Given the description of an element on the screen output the (x, y) to click on. 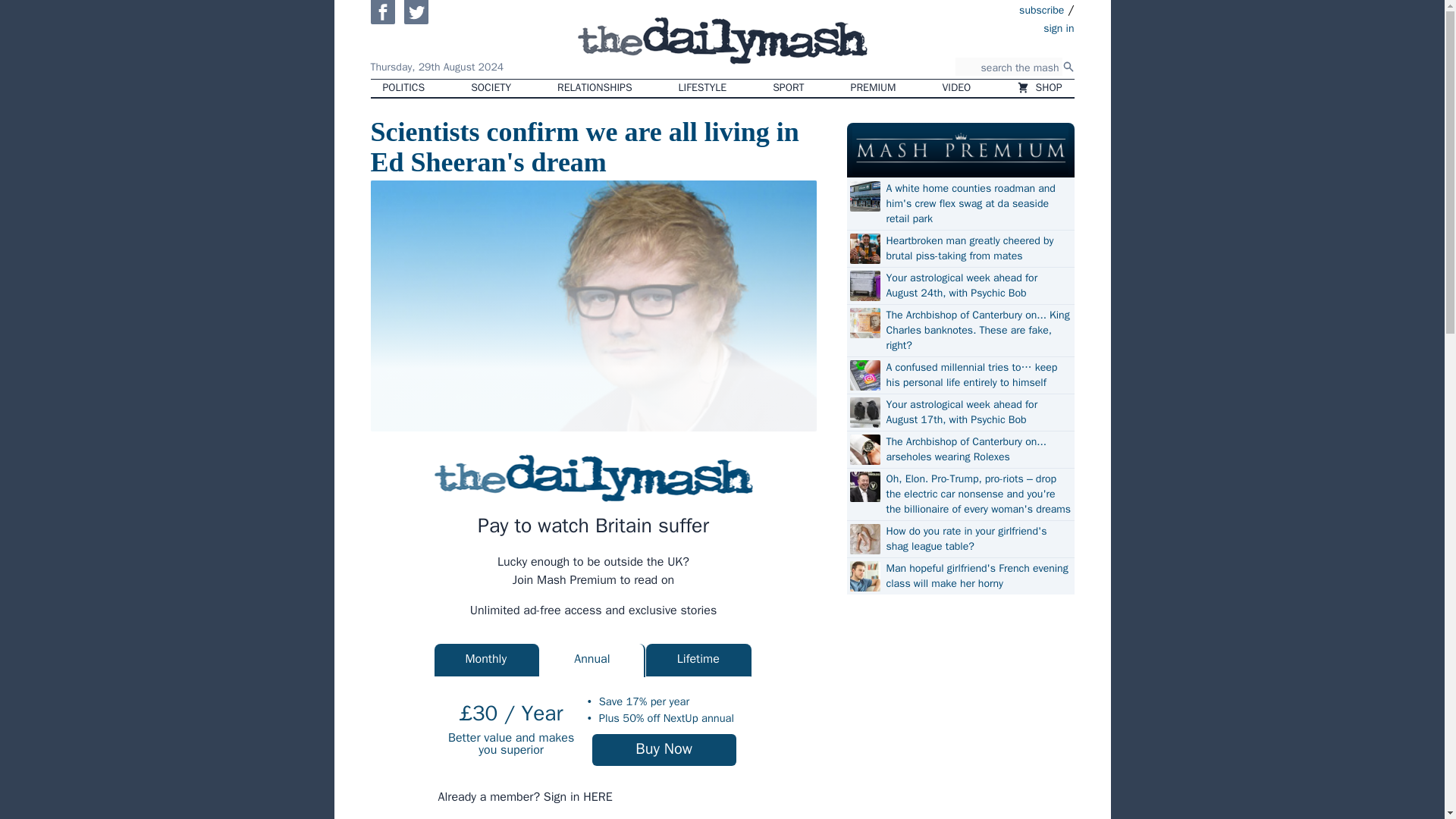
RELATIONSHIPS (593, 88)
PREMIUM (873, 88)
VIDEO (957, 88)
Buy Now (664, 749)
subscribe (1041, 9)
SPORT (787, 88)
SHOP (1039, 88)
